Given the description of an element on the screen output the (x, y) to click on. 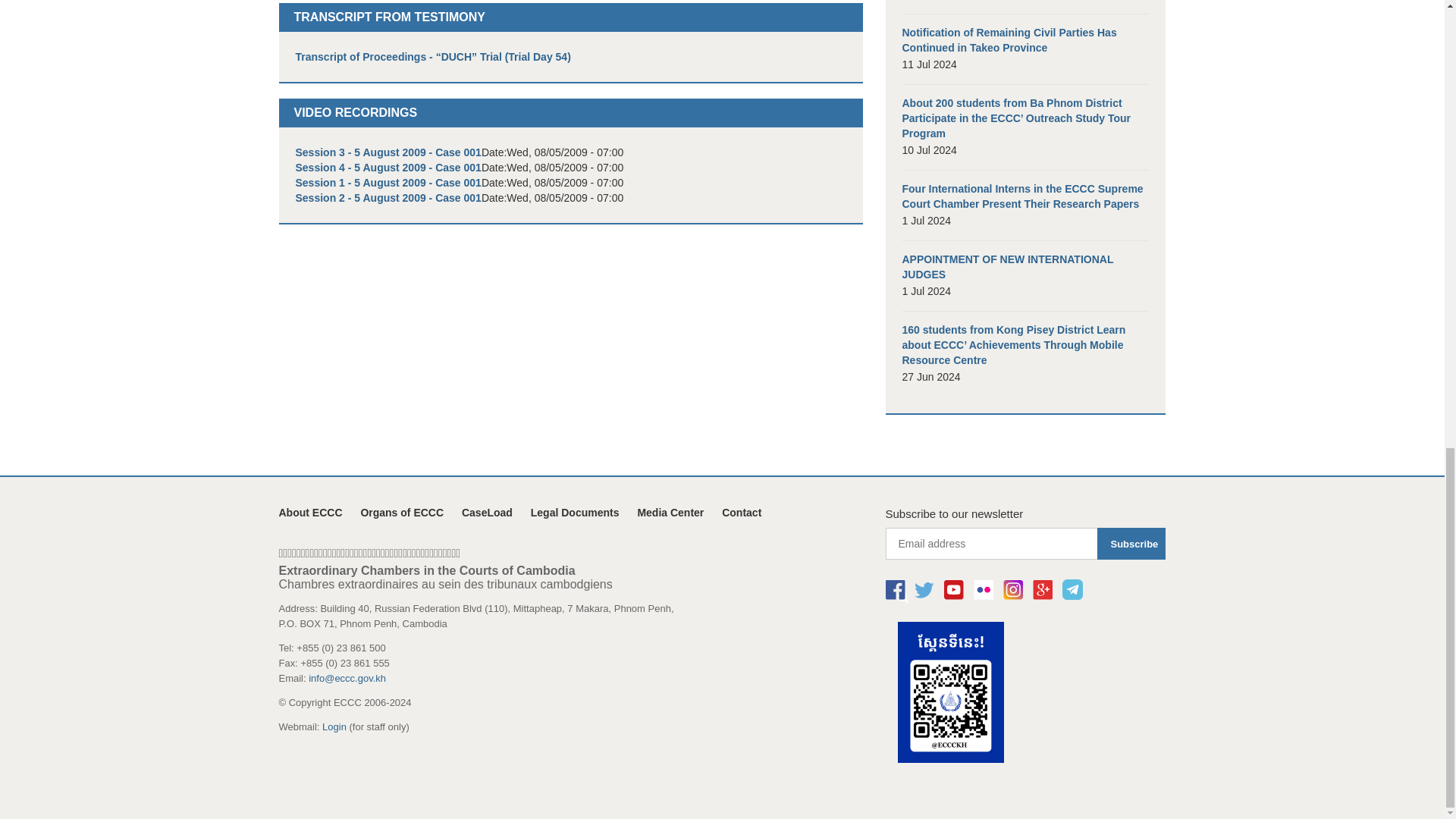
Subscribe (1131, 543)
